Given the description of an element on the screen output the (x, y) to click on. 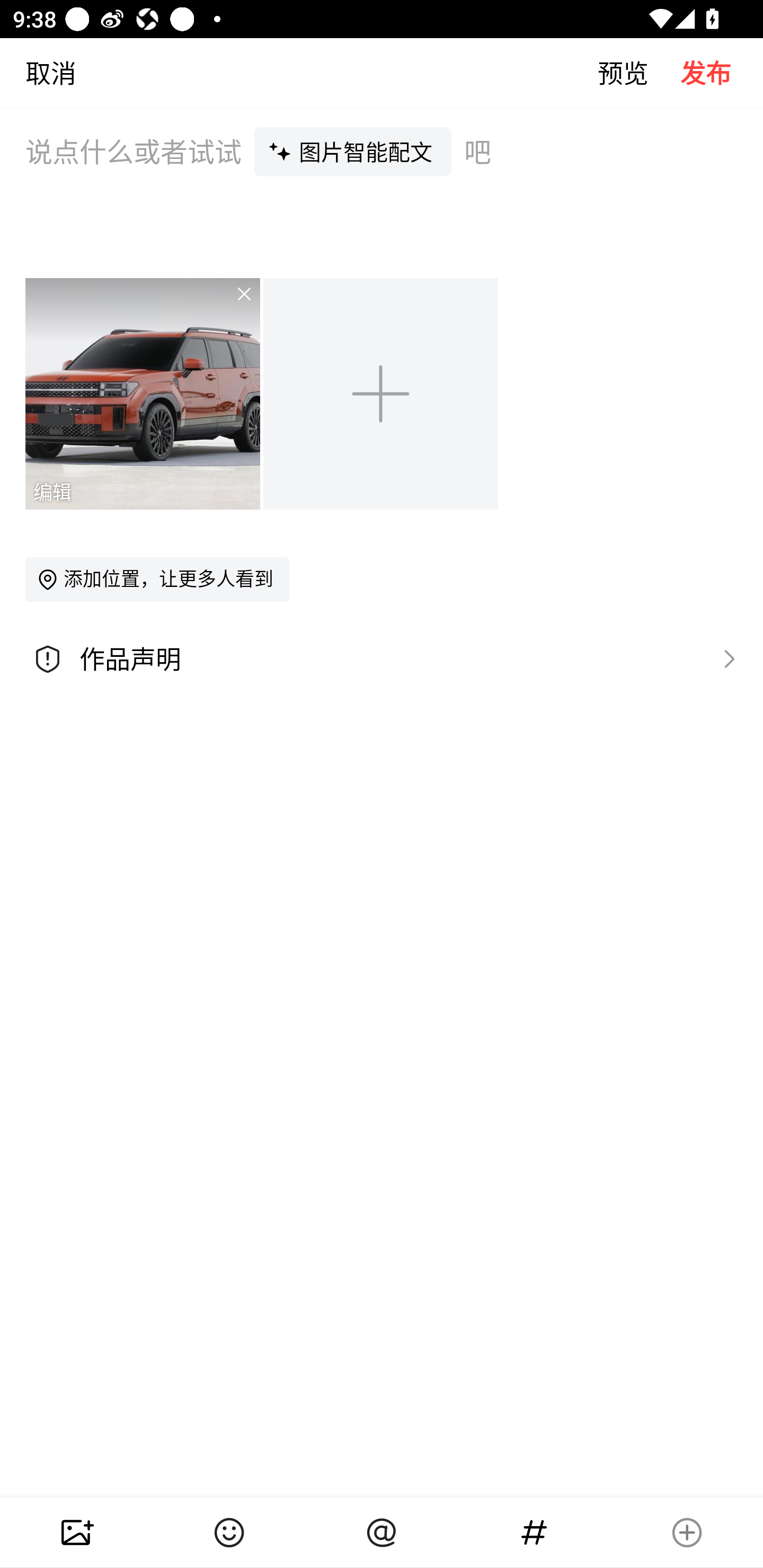
取消 (38, 71)
预览 (638, 71)
发布 (721, 71)
图片智能配文 (352, 151)
图片1，可编辑 移除 编辑 (144, 393)
添加图片 (382, 393)
移除 (231, 306)
添加位置，让更多人看到 (157, 579)
作品声明 高级设置 作品声明 高级设置 (381, 658)
高级设置 (724, 658)
相册 (76, 1532)
表情 (228, 1532)
at (381, 1532)
话题 (533, 1532)
更多 (686, 1532)
